Given the description of an element on the screen output the (x, y) to click on. 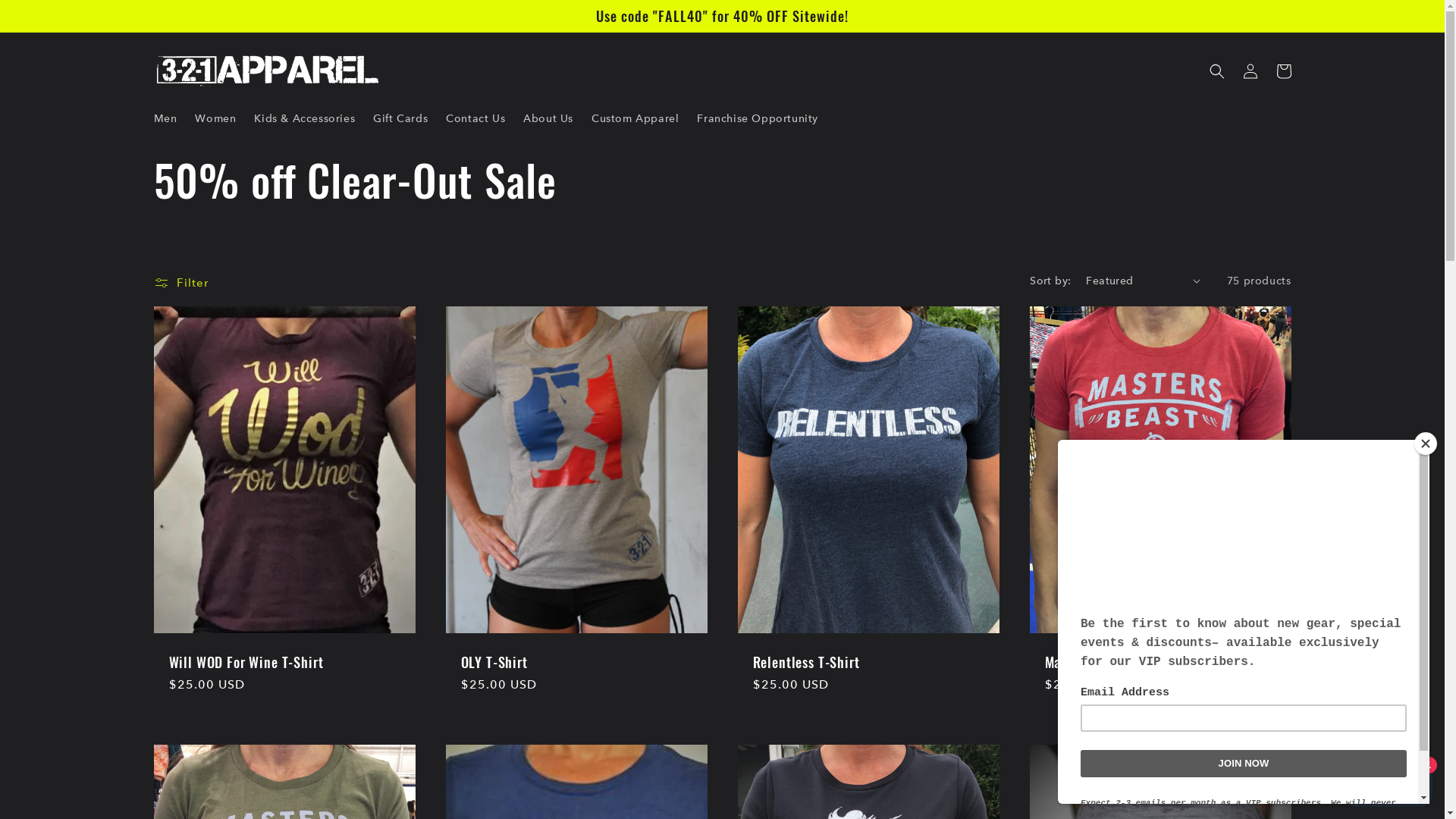
Men Element type: text (164, 118)
Shopify online store chat Element type: hover (1388, 780)
OLY T-Shirt Element type: text (576, 661)
About Us Element type: text (548, 118)
Will WOD For Wine T-Shirt Element type: text (283, 661)
Log in Element type: text (1249, 70)
Masters Beast T-Shirt Element type: text (1160, 661)
Relentless T-Shirt Element type: text (867, 661)
Contact Us Element type: text (475, 118)
Gift Cards Element type: text (400, 118)
Cart Element type: text (1282, 70)
Franchise Opportunity Element type: text (757, 118)
Kids & Accessories Element type: text (304, 118)
Women Element type: text (214, 118)
Custom Apparel Element type: text (634, 118)
